Given the description of an element on the screen output the (x, y) to click on. 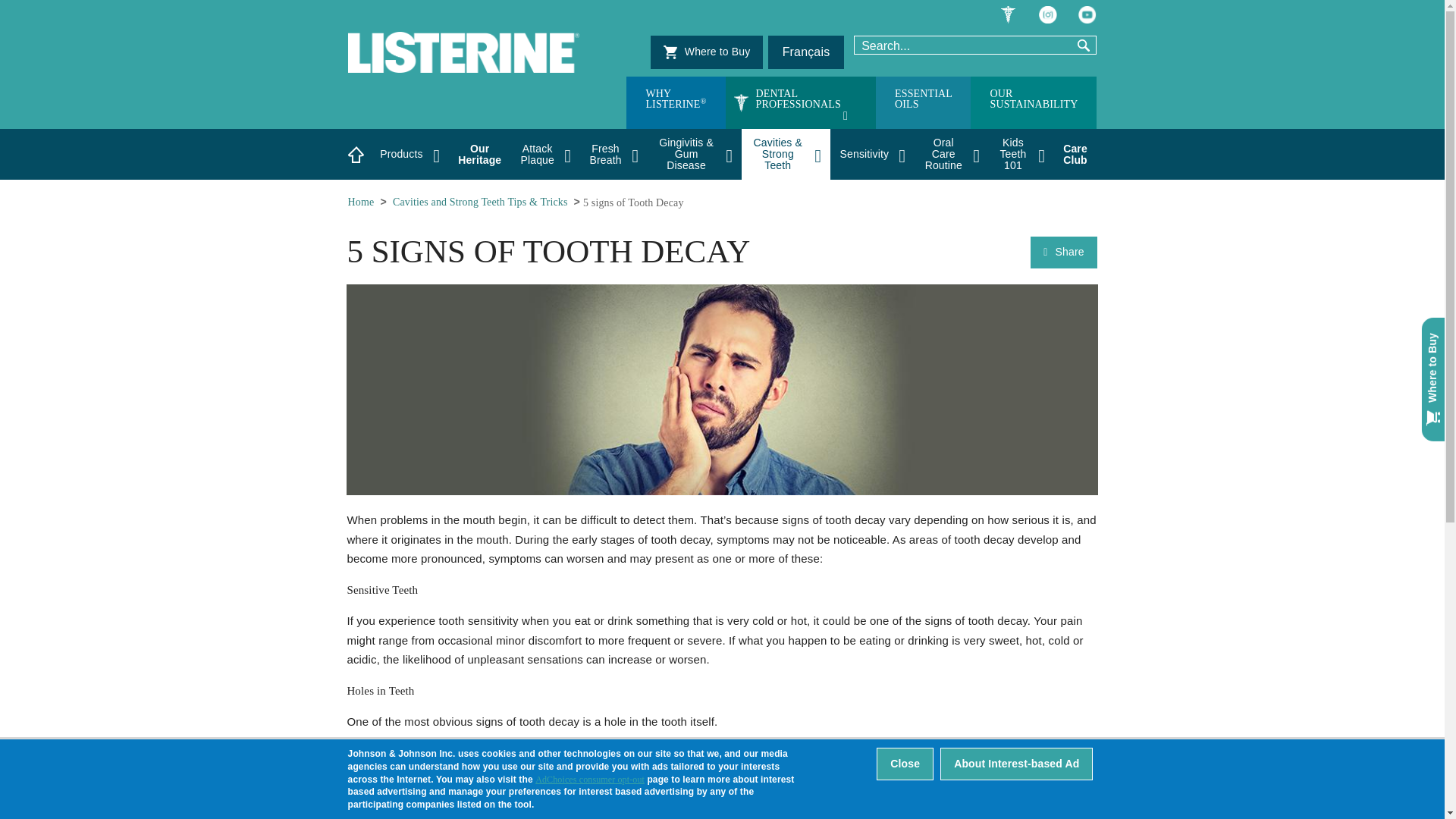
Enter the terms you wish to search for. (958, 45)
Home (800, 102)
Our Heritage (459, 41)
Where to Buy (479, 153)
Search (706, 52)
